Given the description of an element on the screen output the (x, y) to click on. 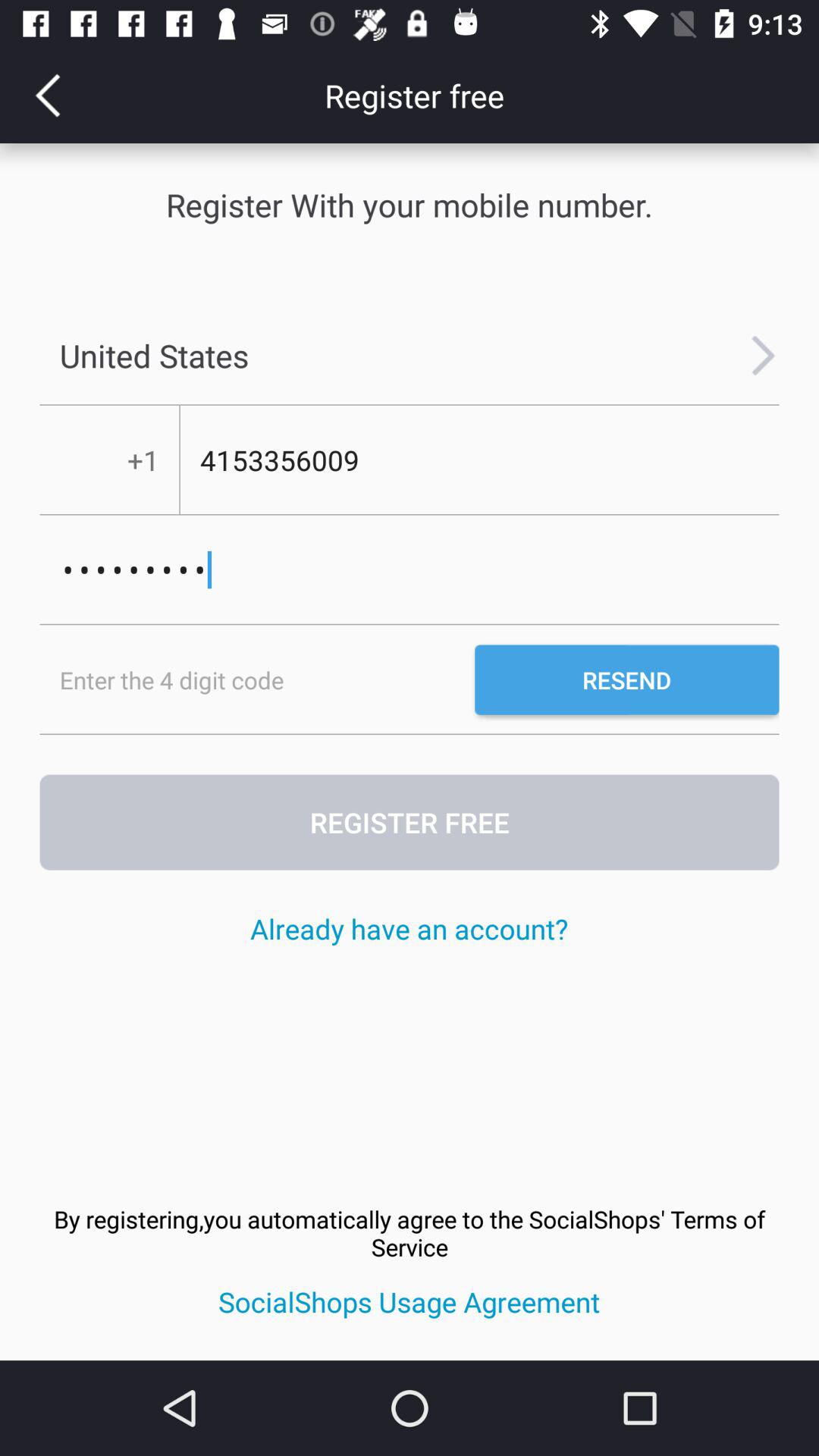
go to the code section (256, 679)
